Given the description of an element on the screen output the (x, y) to click on. 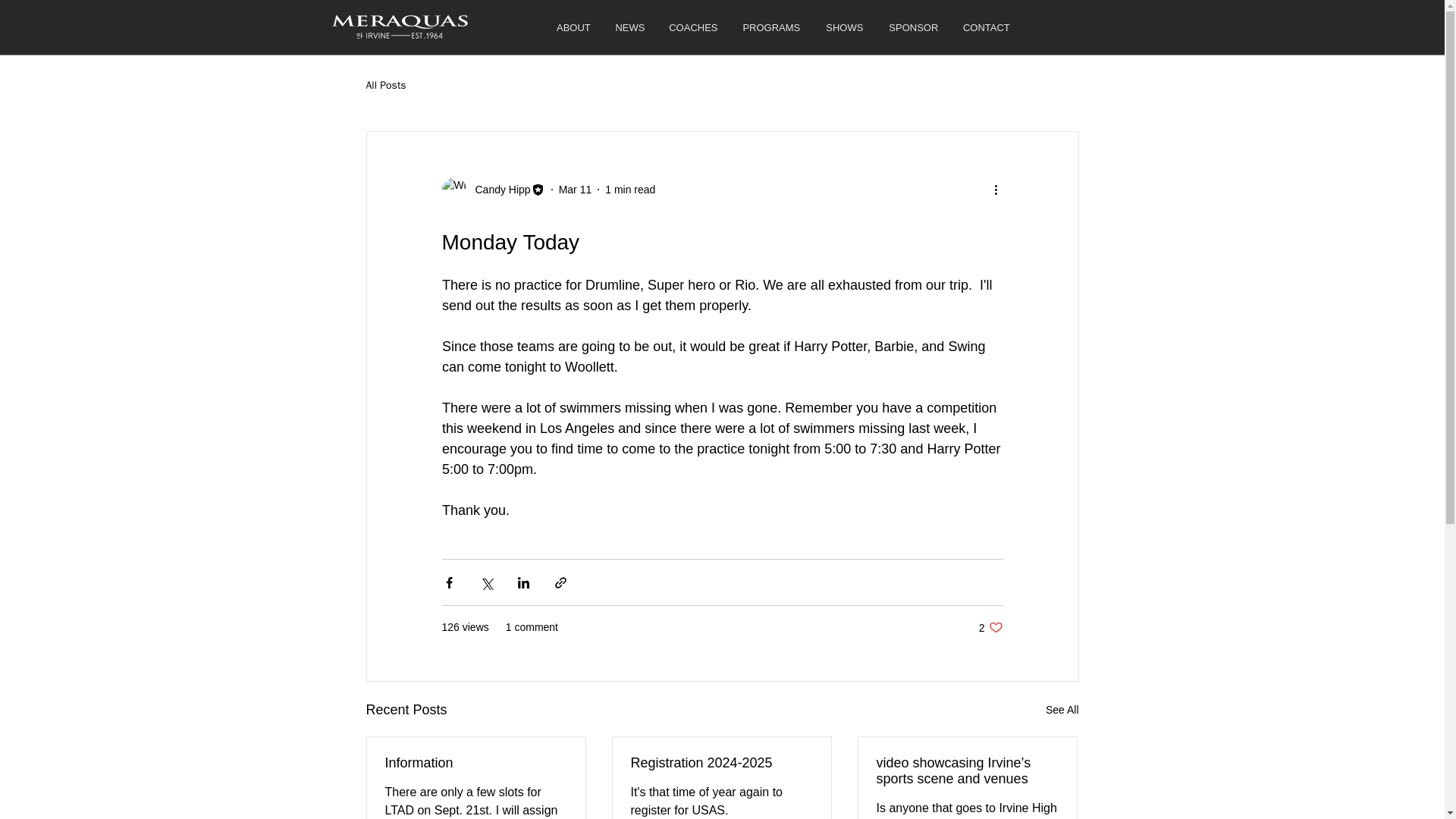
See All (1061, 710)
PROGRAMS (990, 626)
CONTACT (770, 27)
1 min read (986, 27)
Mar 11 (630, 189)
Registration 2024-2025 (575, 189)
Candy Hipp (721, 763)
Information (492, 189)
ABOUT (476, 763)
